Given the description of an element on the screen output the (x, y) to click on. 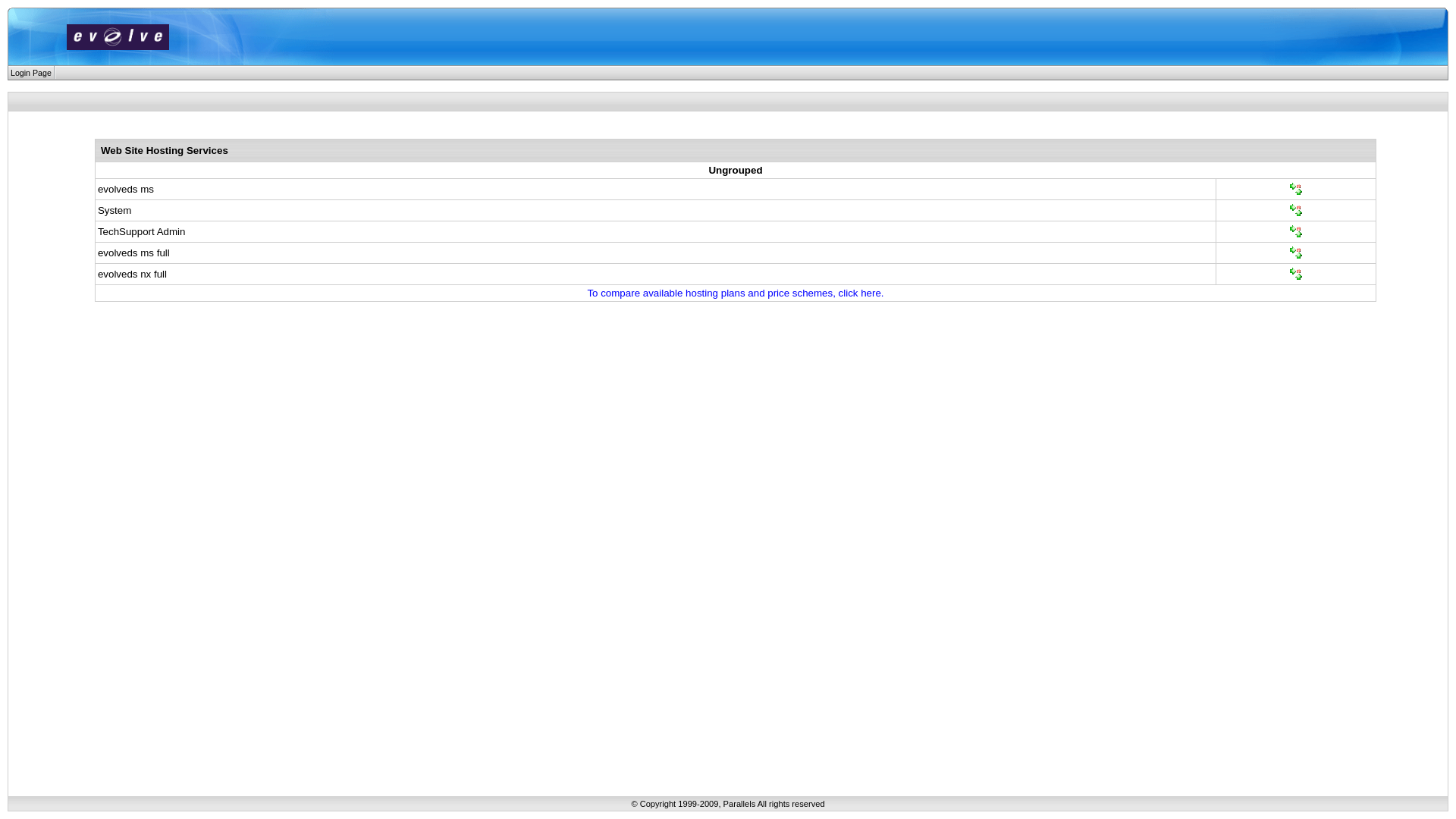
evolveds ms full Element type: text (133, 251)
Click to choose this plan Element type: hover (1296, 208)
TechSupport Admin Element type: text (141, 230)
 Login Page  Element type: text (30, 72)
evolveds ms Element type: text (125, 188)
Click to choose this plan Element type: hover (1296, 250)
System Element type: text (114, 209)
Click to choose this plan Element type: hover (1296, 272)
Click to choose this plan Element type: hover (1296, 187)
Click to choose this plan Element type: hover (1296, 229)
evolveds nx full Element type: text (131, 272)
